Given the description of an element on the screen output the (x, y) to click on. 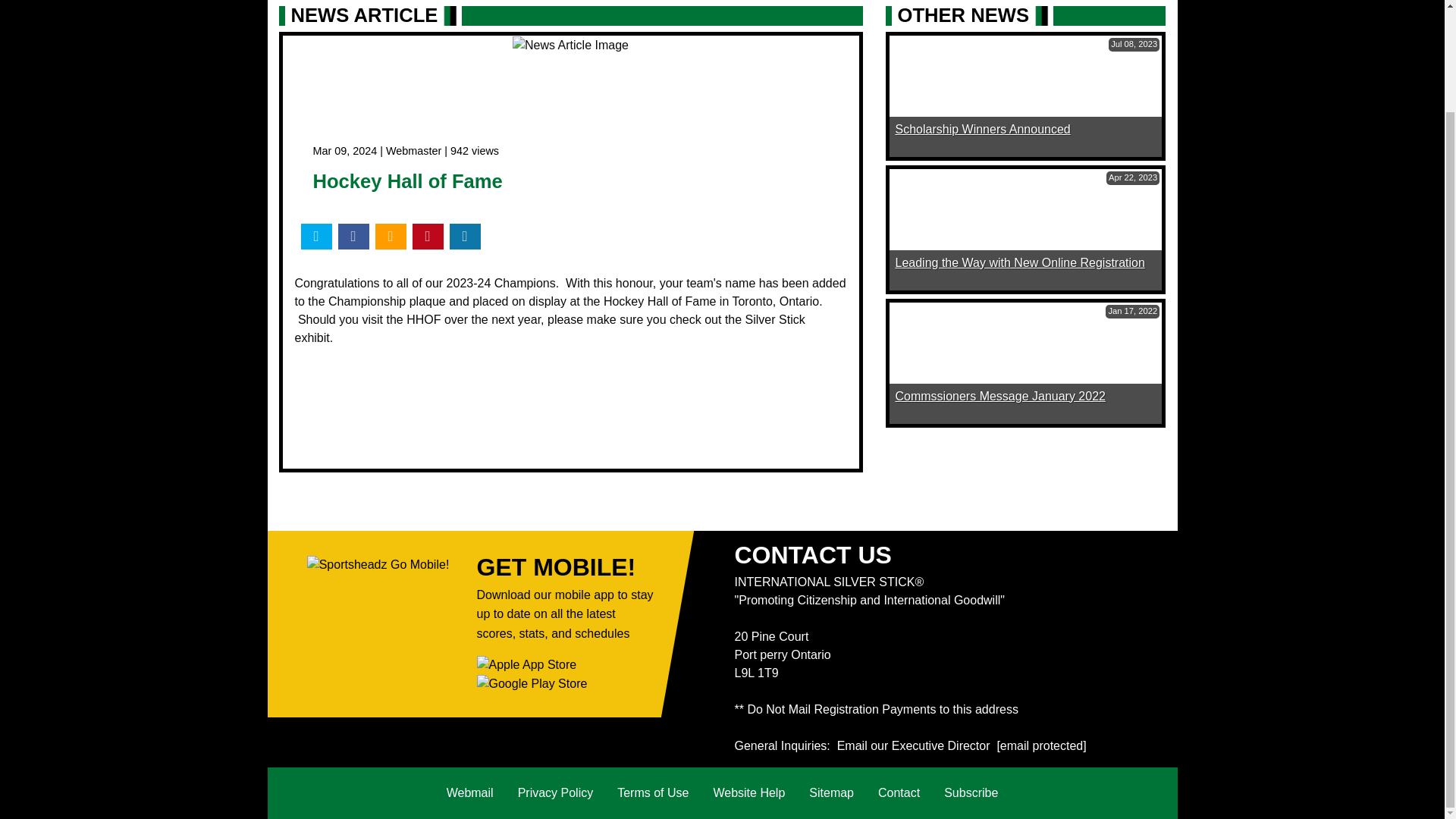
read more of this item (1000, 395)
read more of this item (982, 128)
Download the Sportsheadz App from the Google Play Store (531, 682)
Download the Sportsheadz App from the Apple App Store (526, 664)
read more of this item (1019, 262)
